Given the description of an element on the screen output the (x, y) to click on. 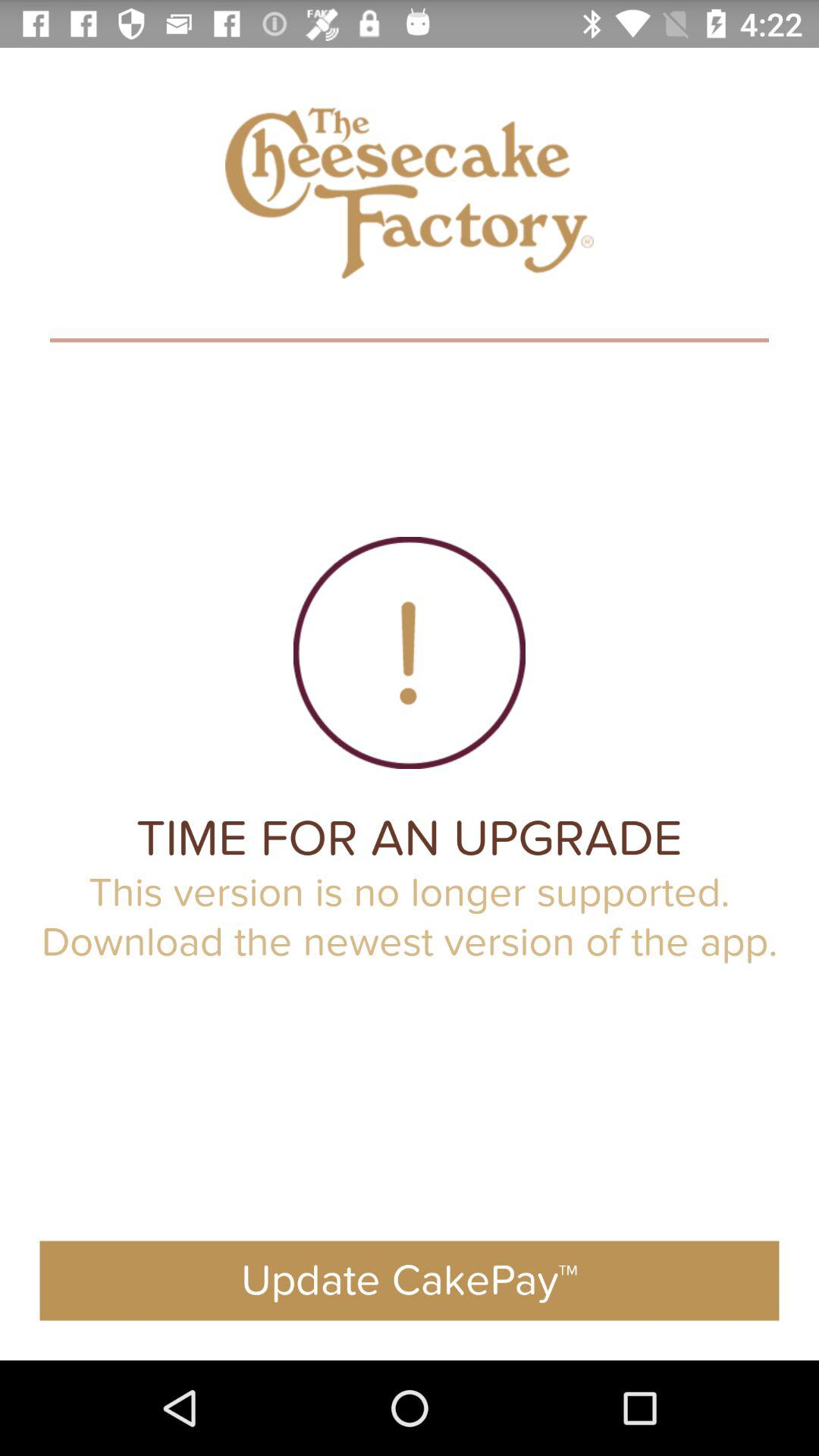
tap the app below the this version is icon (409, 1280)
